Given the description of an element on the screen output the (x, y) to click on. 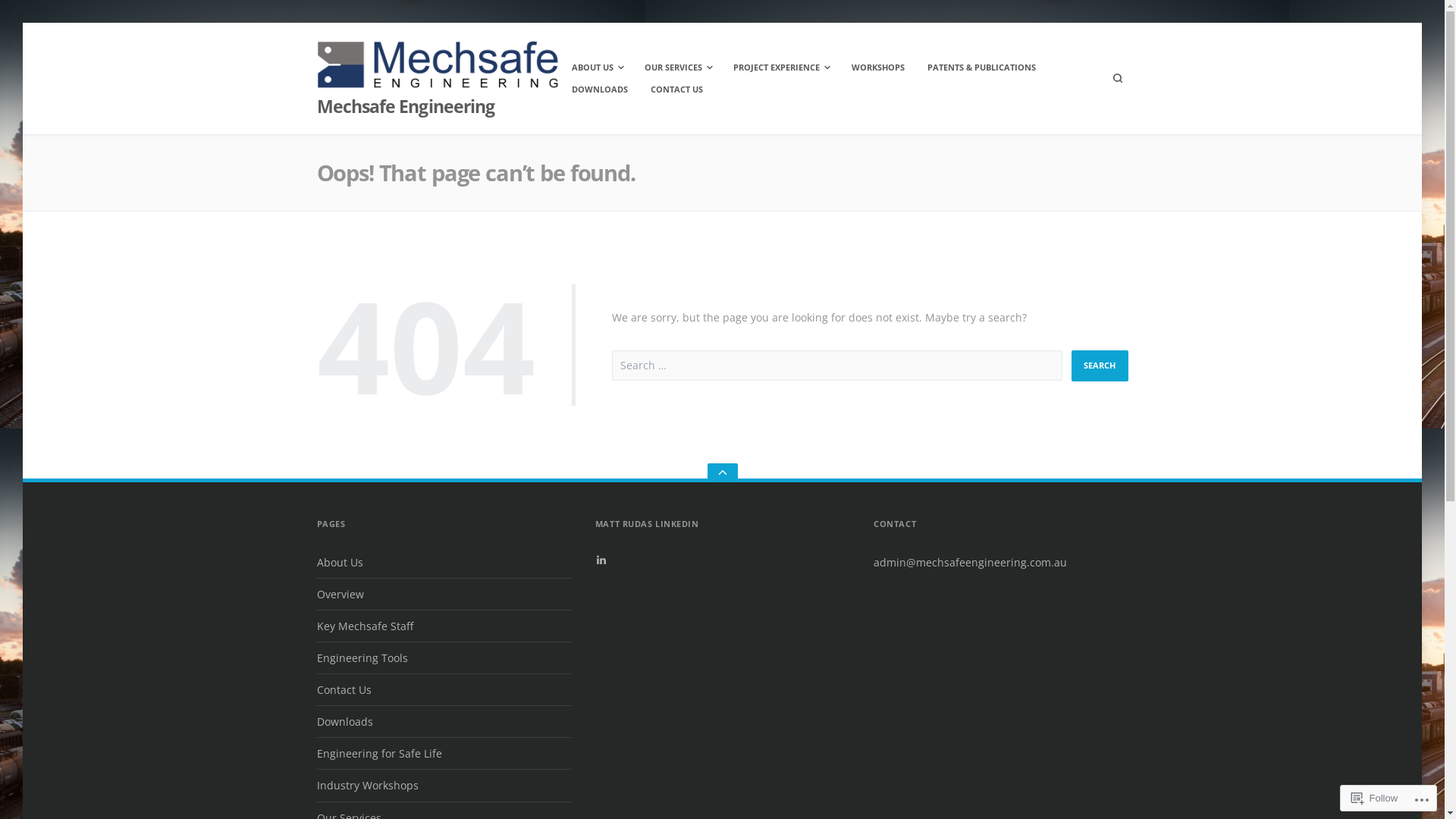
Key Mechsafe Staff Element type: text (364, 625)
OUR SERVICES Element type: text (677, 67)
ABOUT US Element type: text (596, 67)
DOWNLOADS Element type: text (599, 89)
PROJECT EXPERIENCE Element type: text (780, 67)
PATENTS & PUBLICATIONS Element type: text (981, 67)
Overview Element type: text (340, 593)
Downloads Element type: text (344, 721)
Contact Us Element type: text (343, 689)
CONTACT US Element type: text (676, 89)
Mechsafe Engineering Element type: text (405, 106)
WORKSHOPS Element type: text (877, 67)
Industry Workshops Element type: text (367, 785)
Search Element type: text (1098, 365)
admin@mechsafeengineering.com.au Element type: text (969, 562)
Follow Element type: text (1374, 797)
Engineering for Safe Life Element type: text (379, 753)
About Us Element type: text (339, 562)
Engineering Tools Element type: text (361, 657)
